Given the description of an element on the screen output the (x, y) to click on. 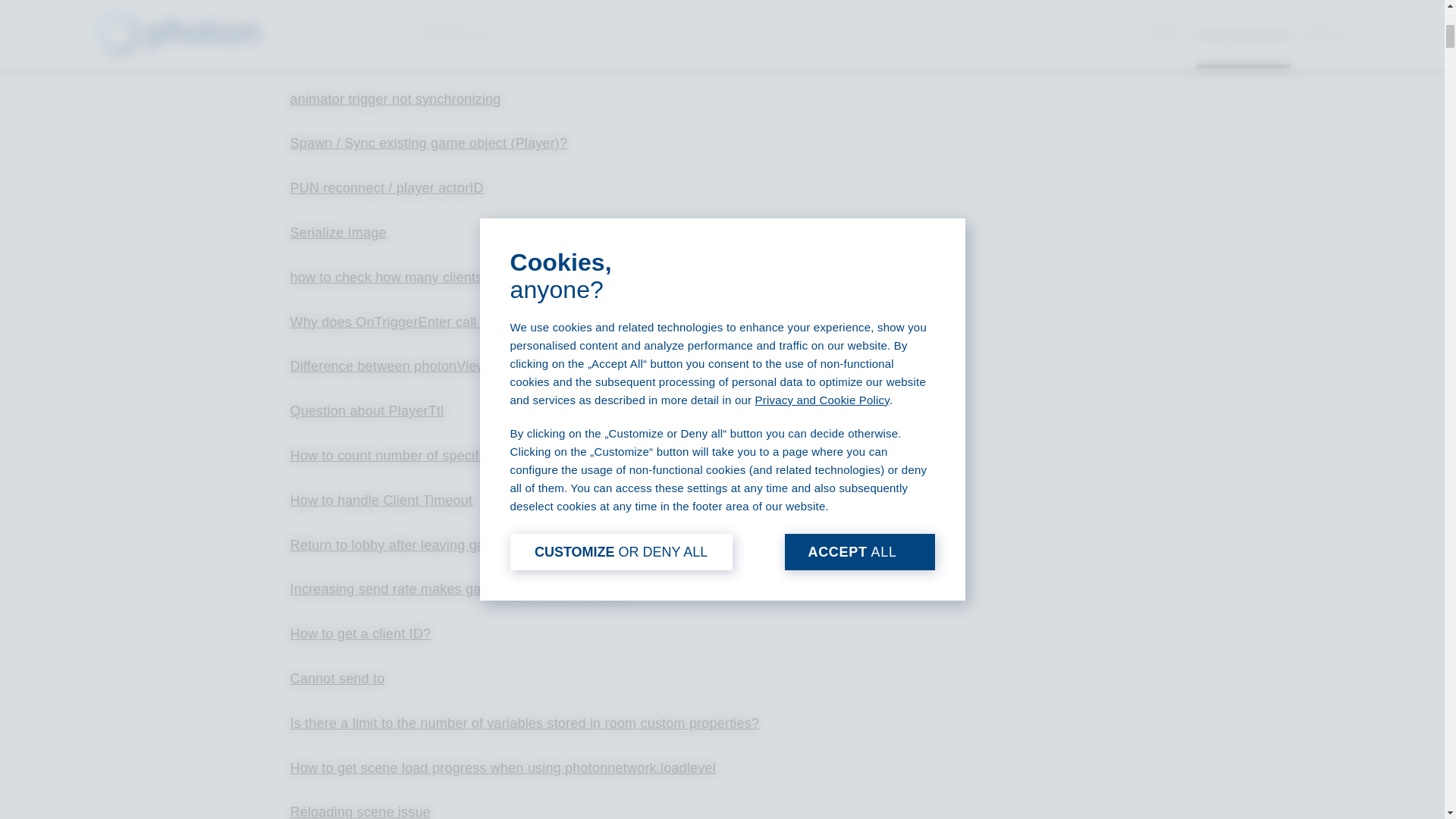
animator trigger not synchronizing (394, 99)
Why does OnTriggerEnter call on client and master (447, 322)
Server list with ping and list of servers on all the regions (461, 54)
Serialize Image (337, 232)
